Given the description of an element on the screen output the (x, y) to click on. 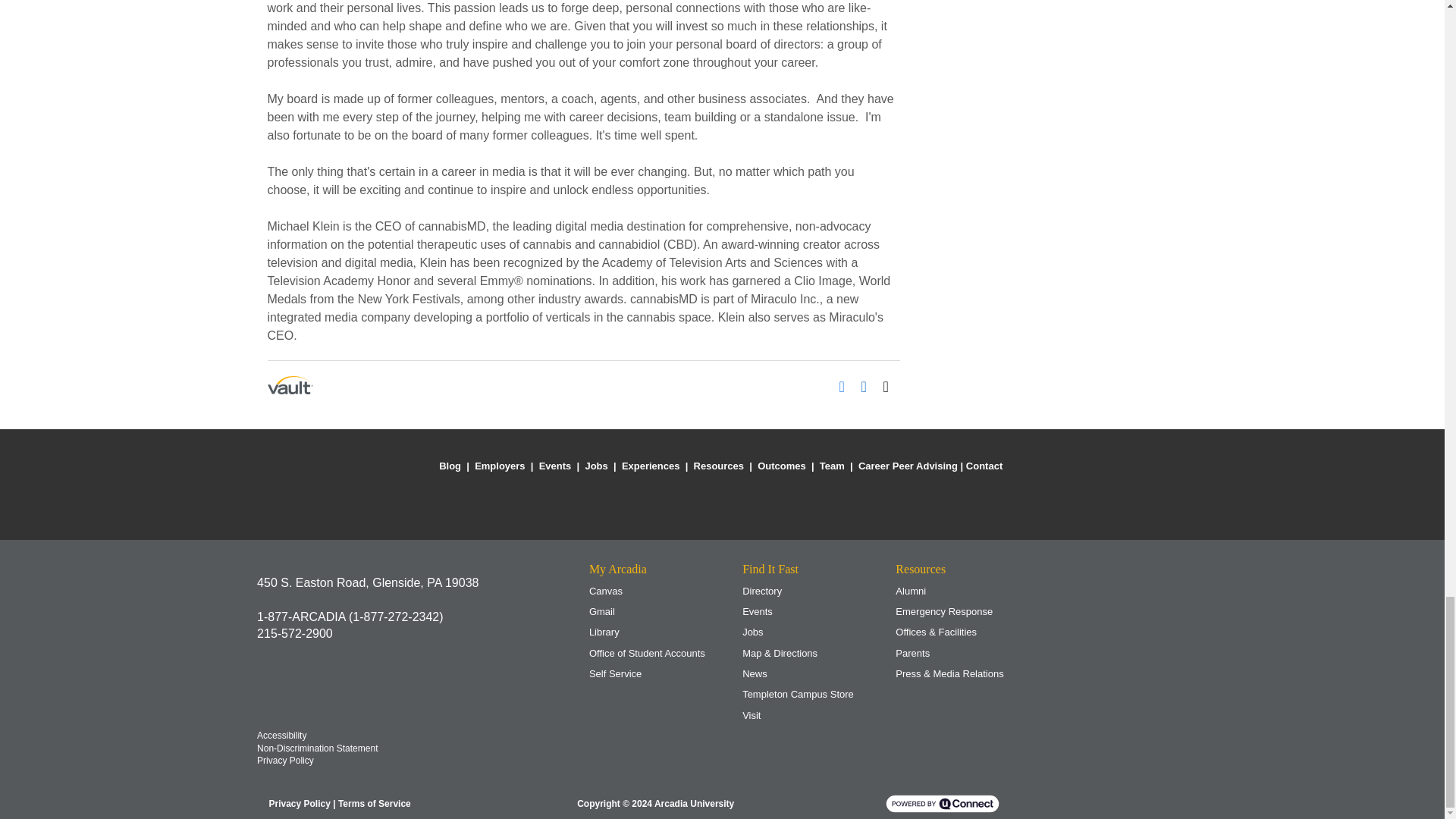
Click to share on LinkedIn (868, 384)
Click to share on Twitter (889, 384)
Powered by Vault (289, 384)
Click to share on Facebook (846, 384)
